Given the description of an element on the screen output the (x, y) to click on. 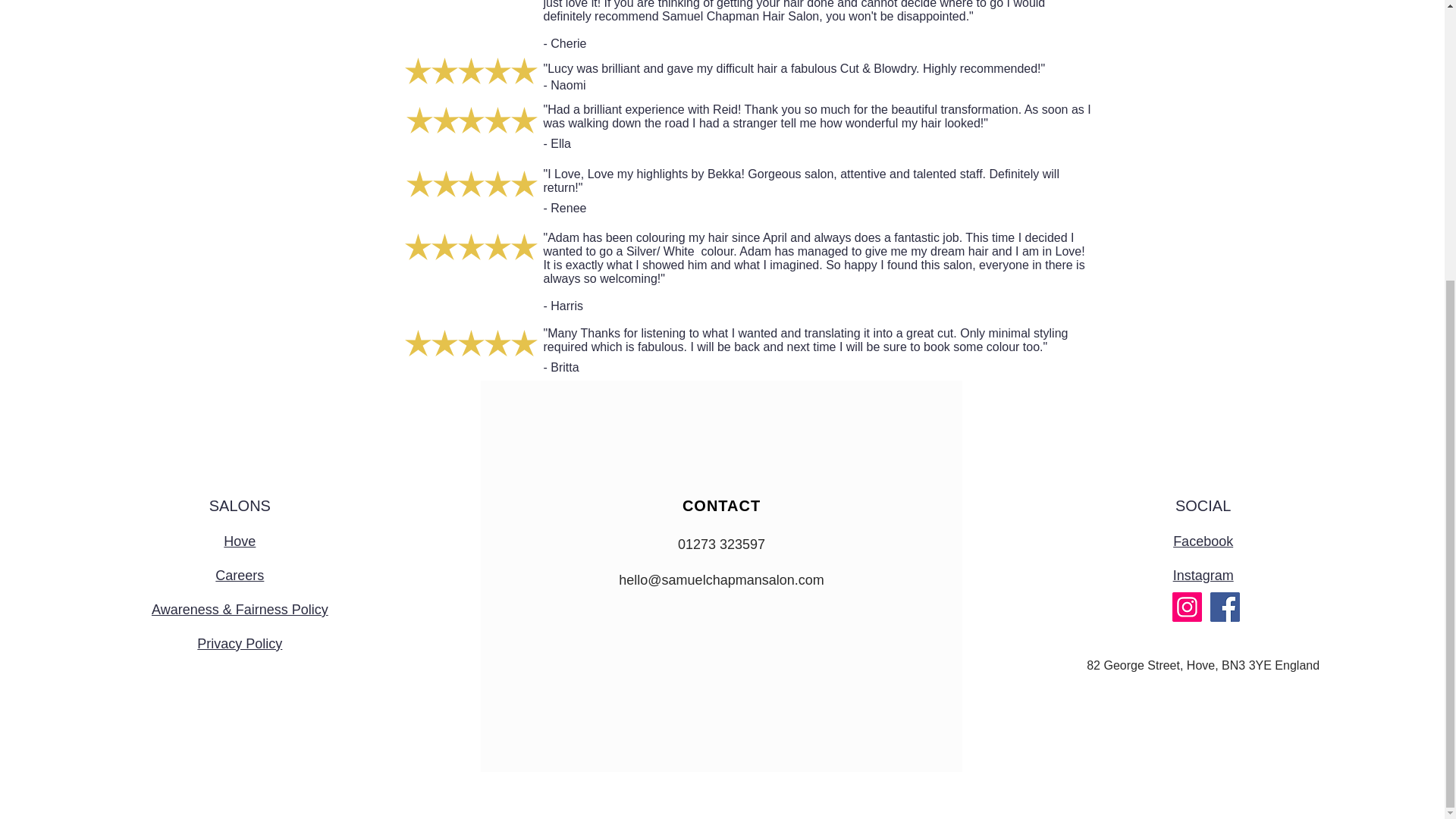
Careers (239, 575)
Hove (240, 540)
Privacy Policy (239, 643)
Instagram (1203, 575)
Facebook (1203, 540)
